Given the description of an element on the screen output the (x, y) to click on. 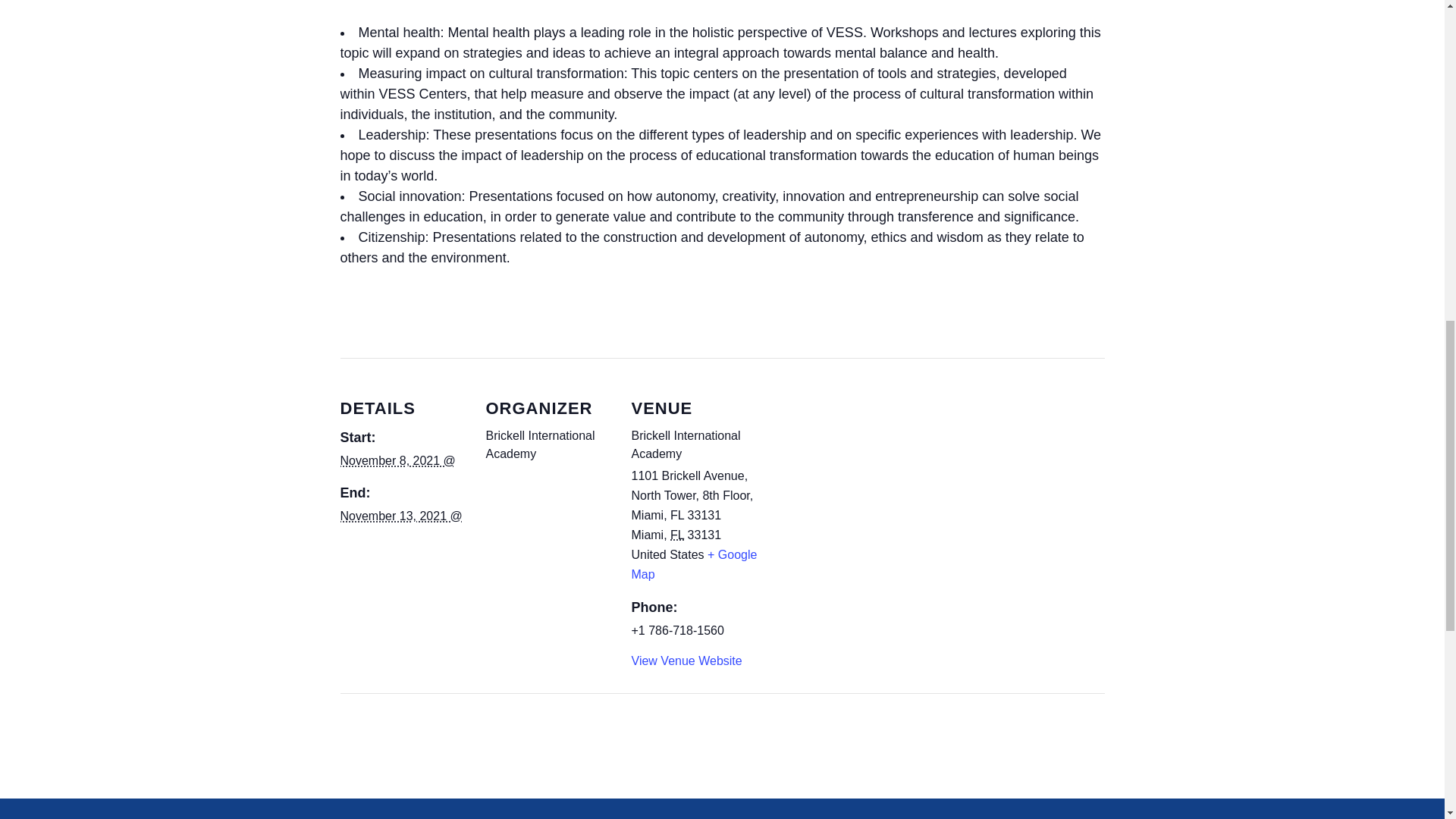
2021-11-08 (396, 460)
Click to view a Google Map (693, 563)
2021-11-13 (400, 515)
